Given the description of an element on the screen output the (x, y) to click on. 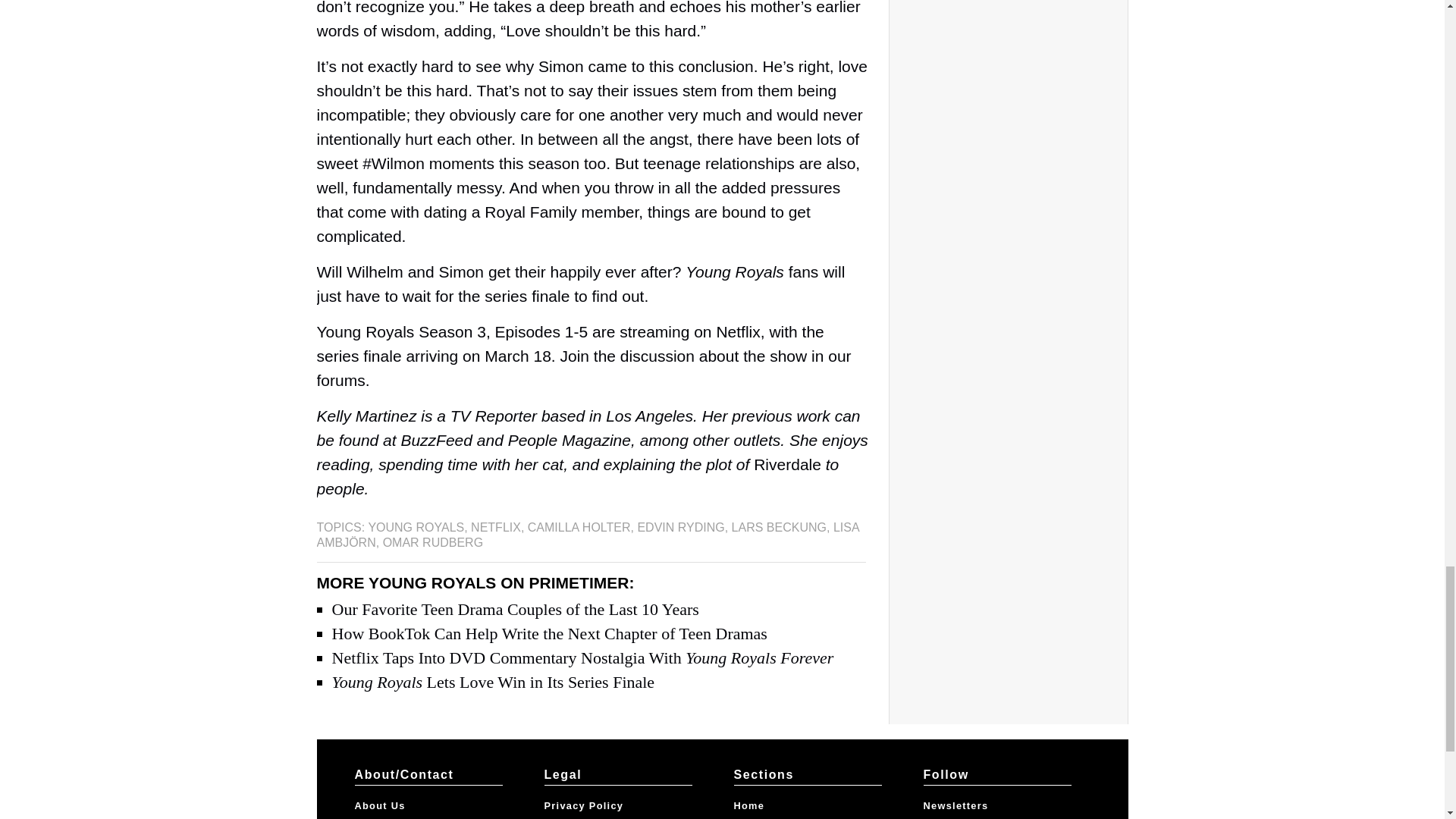
NETFLIX (495, 526)
How BookTok Can Help Write the Next Chapter of Teen Dramas (549, 633)
CAMILLA HOLTER (578, 526)
EDVIN RYDING (680, 526)
OMAR RUDBERG (432, 542)
LARS BECKUNG (779, 526)
Our Favorite Teen Drama Couples of the Last 10 Years (514, 609)
YOUNG ROYALS (416, 526)
